Given the description of an element on the screen output the (x, y) to click on. 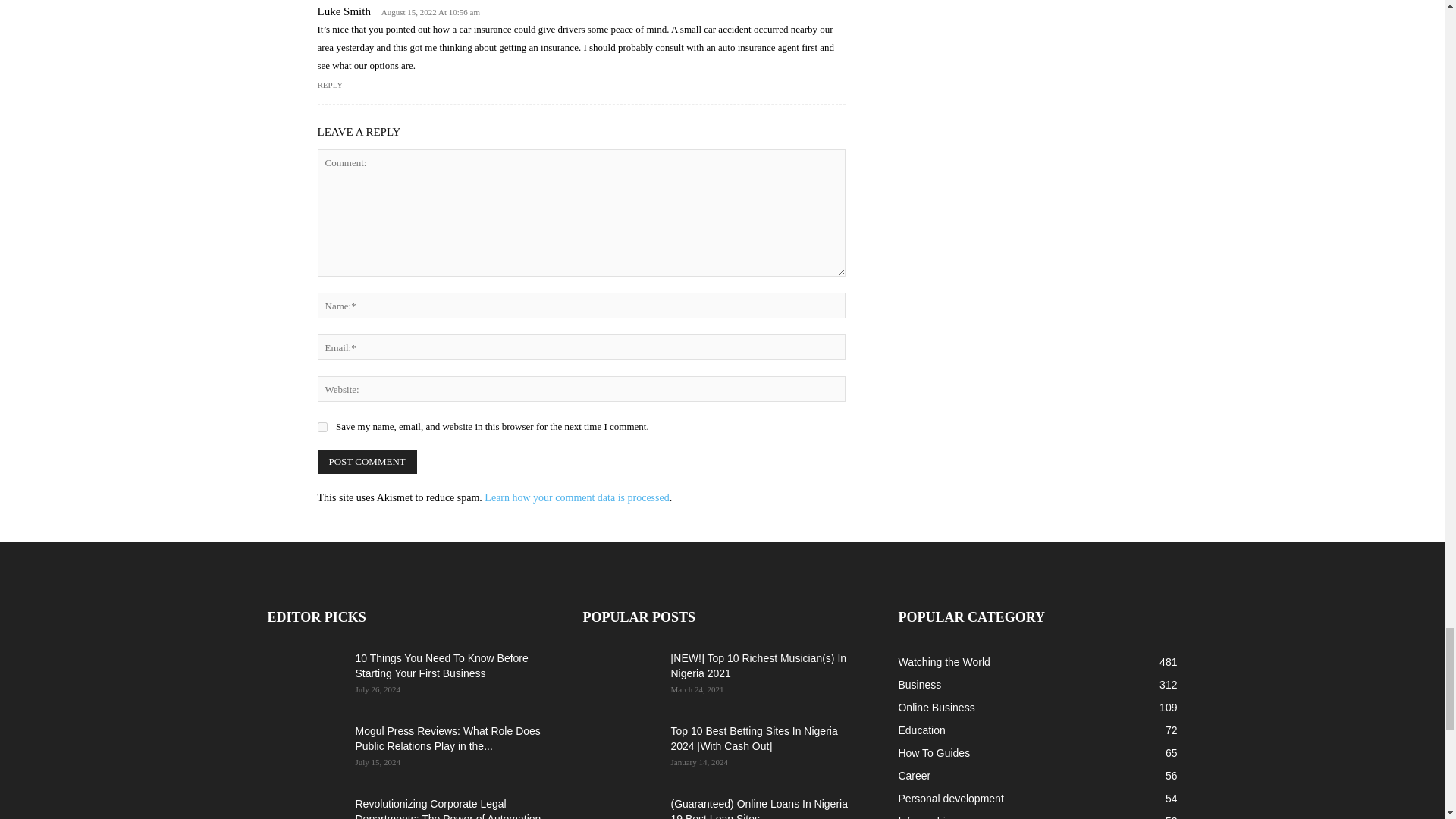
Post Comment (366, 461)
yes (321, 427)
